Given the description of an element on the screen output the (x, y) to click on. 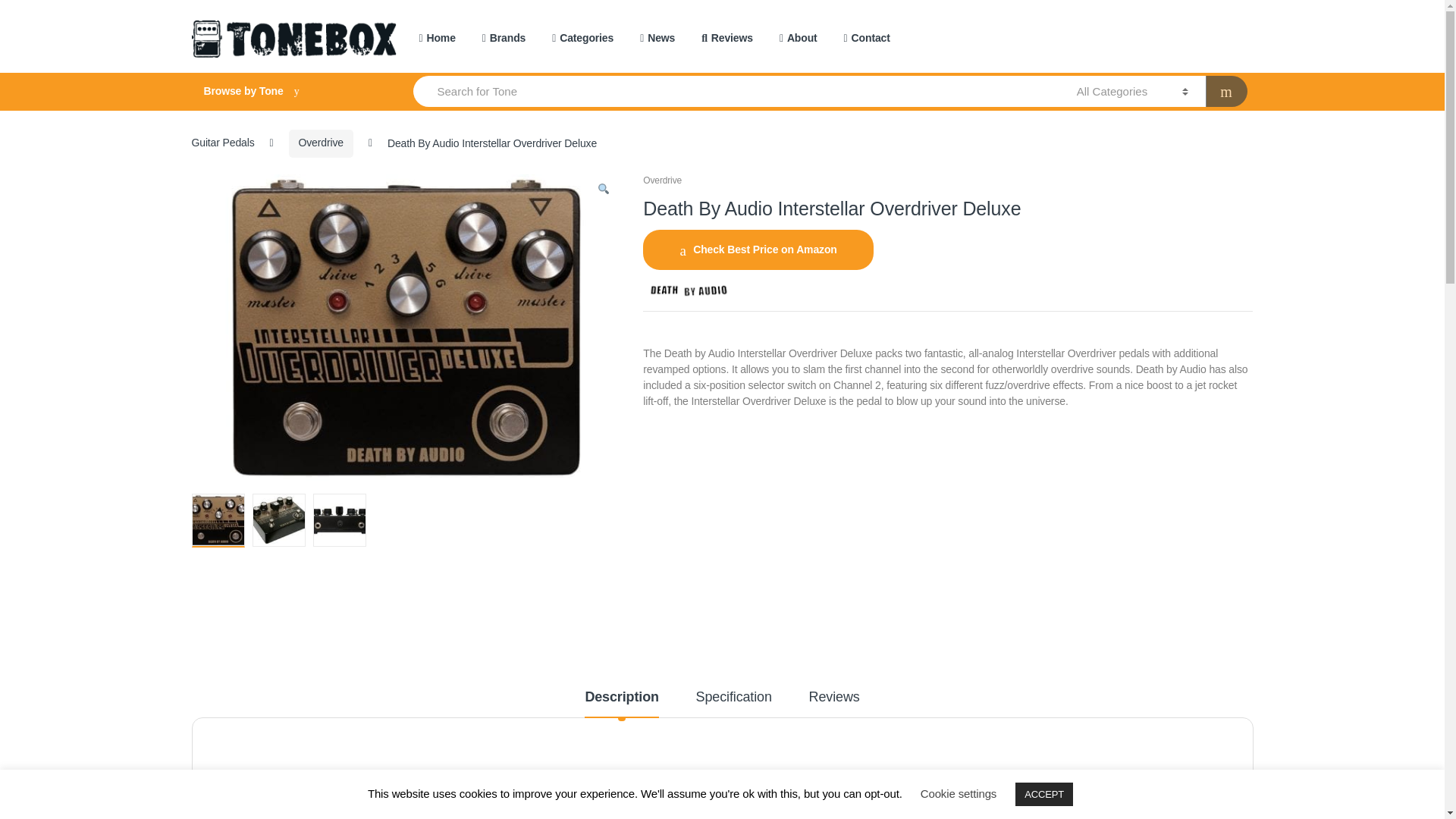
Categories (581, 38)
Categories (581, 38)
Browse by Tone (287, 91)
Home (436, 38)
Contact (866, 38)
News (657, 38)
Reviews (726, 38)
About (797, 38)
Brands (503, 38)
News (657, 38)
Contact (866, 38)
Reviews (726, 38)
About (797, 38)
Home (436, 38)
Brands (503, 38)
